Given the description of an element on the screen output the (x, y) to click on. 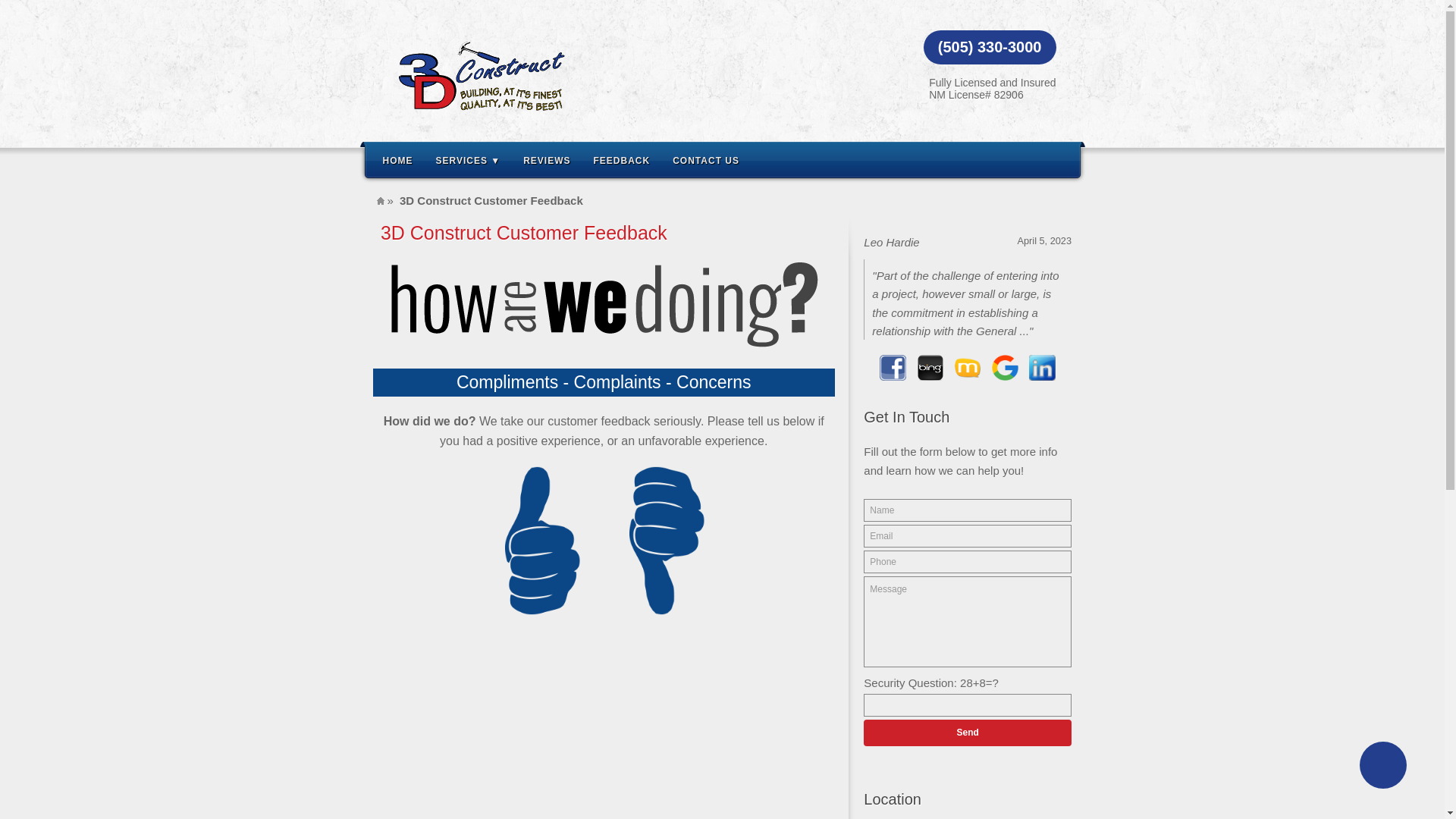
Send Element type: text (967, 732)
(505) 330-3000 Element type: text (989, 46)
CONTACT US Element type: text (705, 159)
REVIEWS Element type: text (546, 159)
FEEDBACK Element type: text (622, 159)
HOME Element type: text (397, 159)
Home Element type: text (379, 200)
